Given the description of an element on the screen output the (x, y) to click on. 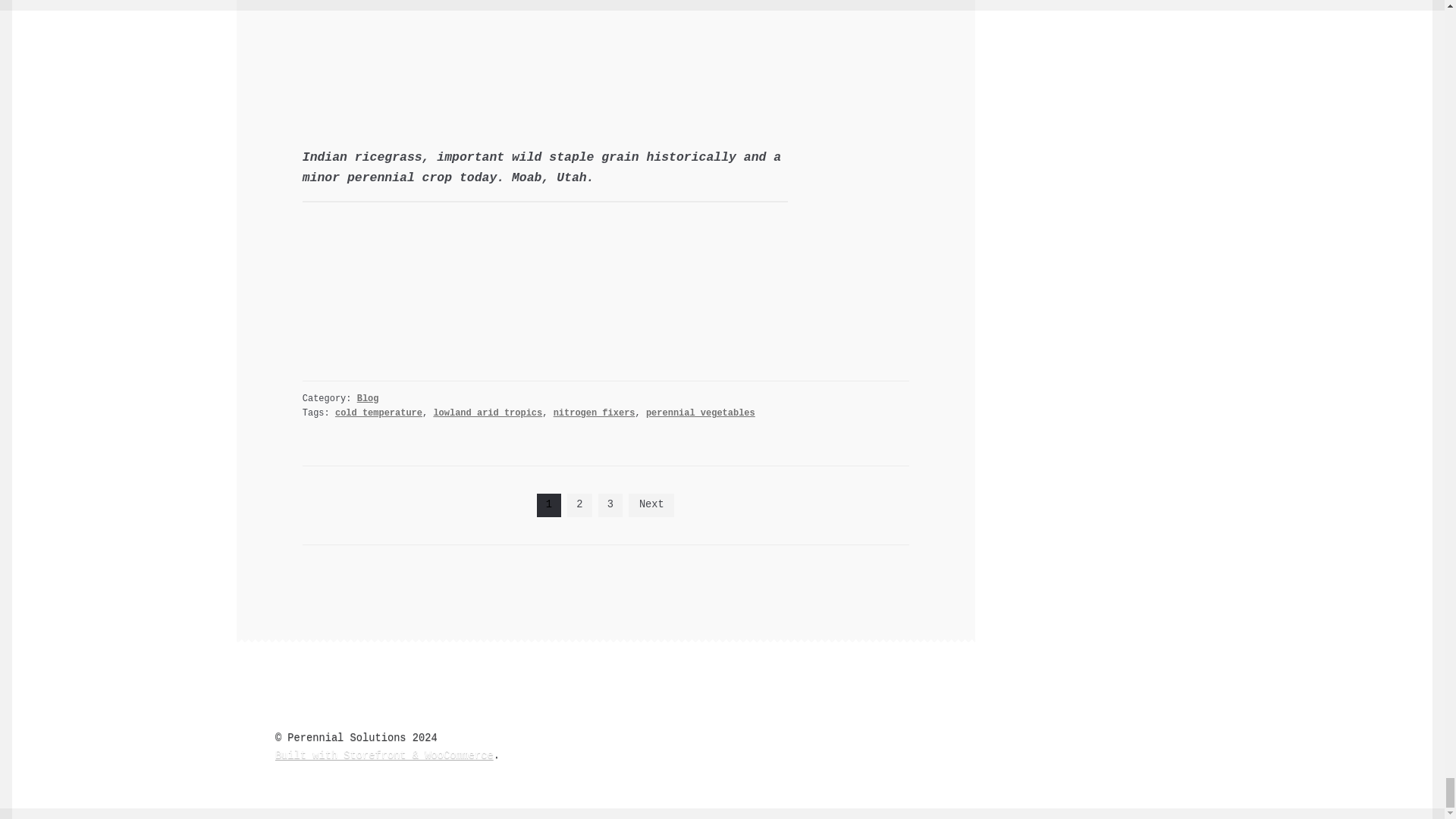
WooCommerce - The Best eCommerce Platform for WordPress (384, 755)
